Given the description of an element on the screen output the (x, y) to click on. 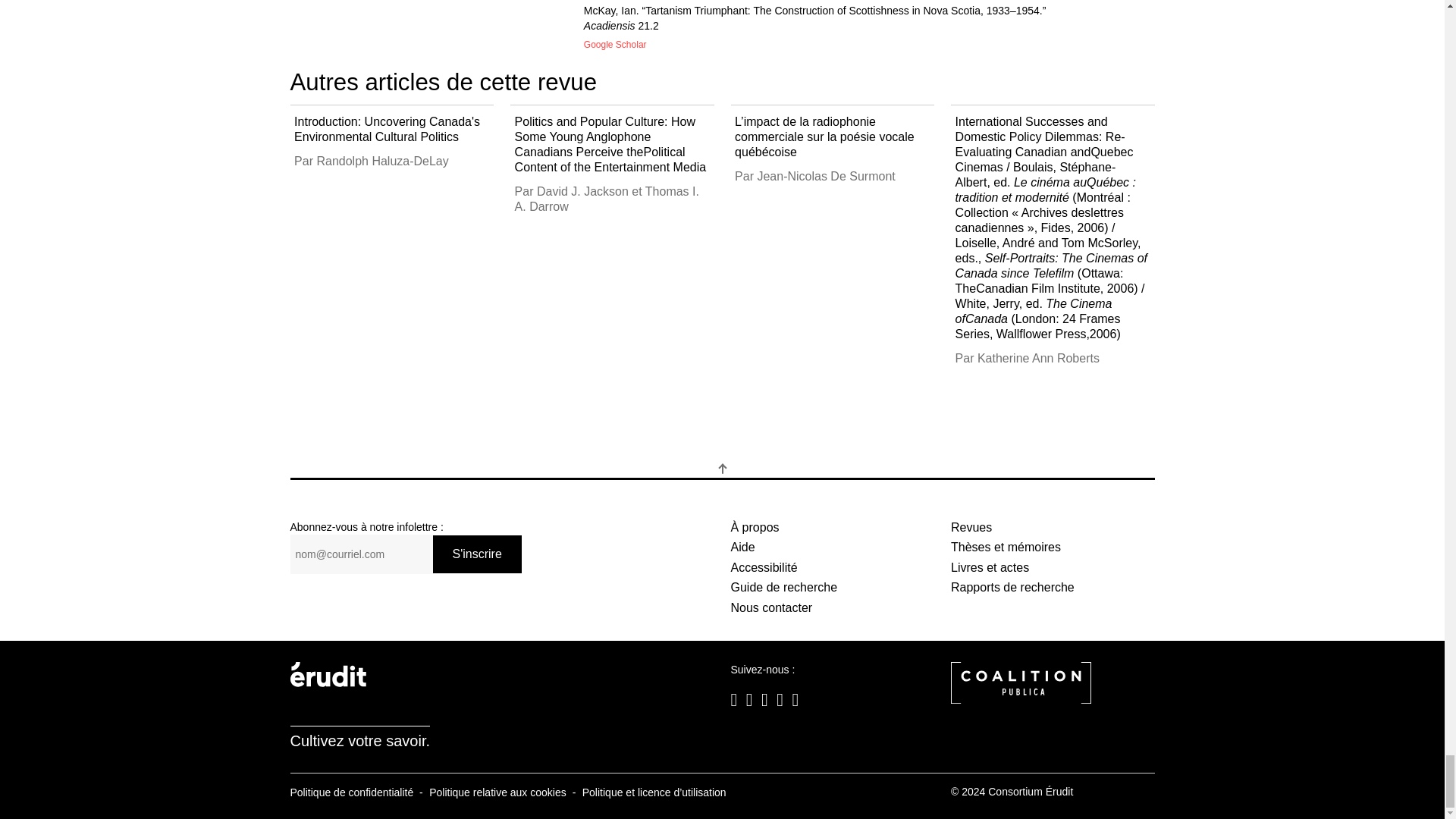
S'inscrire (476, 554)
